Given the description of an element on the screen output the (x, y) to click on. 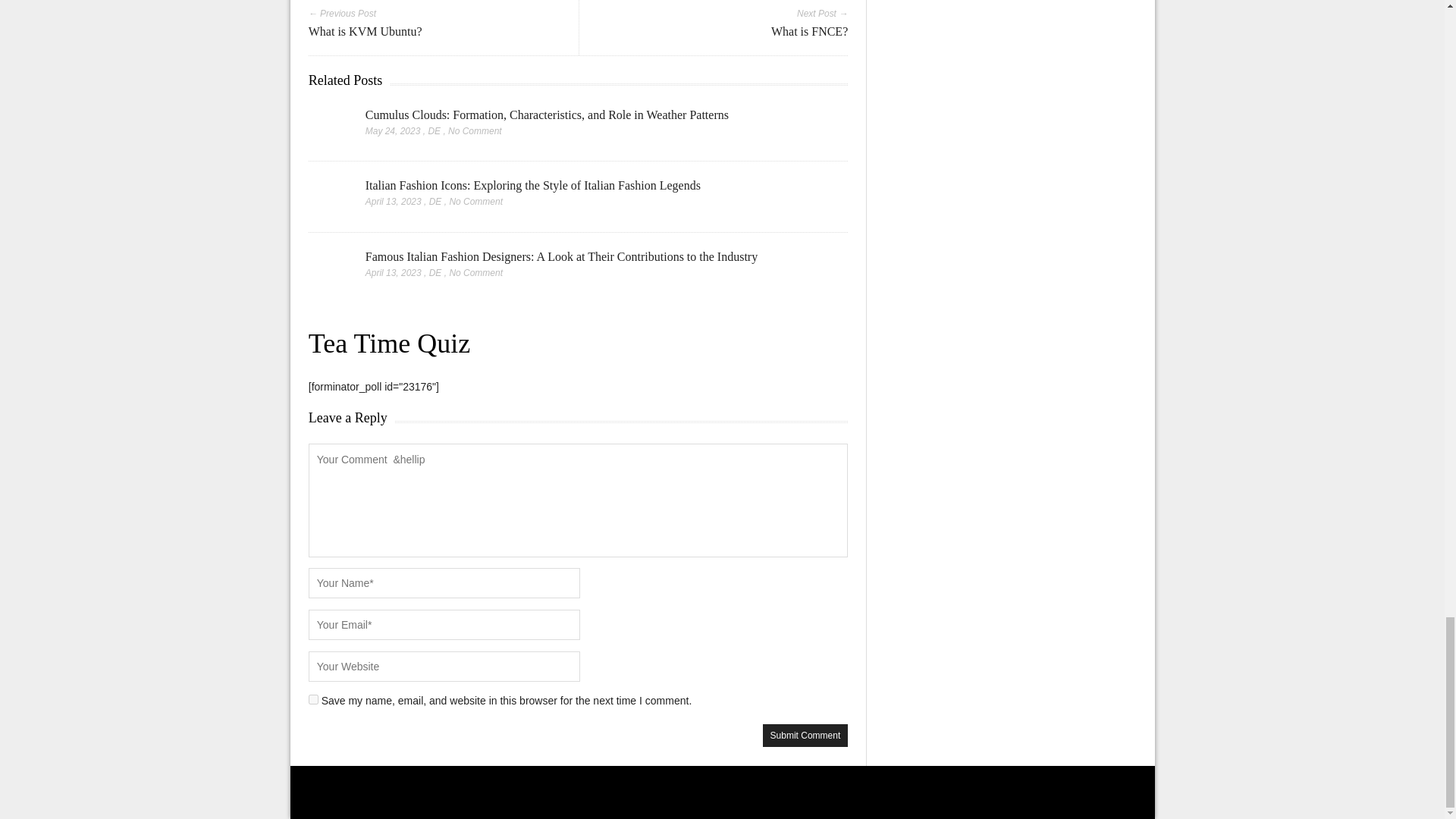
Posts by DE (434, 131)
No Comment (475, 131)
Posts by DE (435, 201)
DE (434, 131)
Submit Comment (805, 734)
No Comment (475, 272)
Submit Comment (805, 734)
No Comment (475, 201)
DE (435, 201)
